Given the description of an element on the screen output the (x, y) to click on. 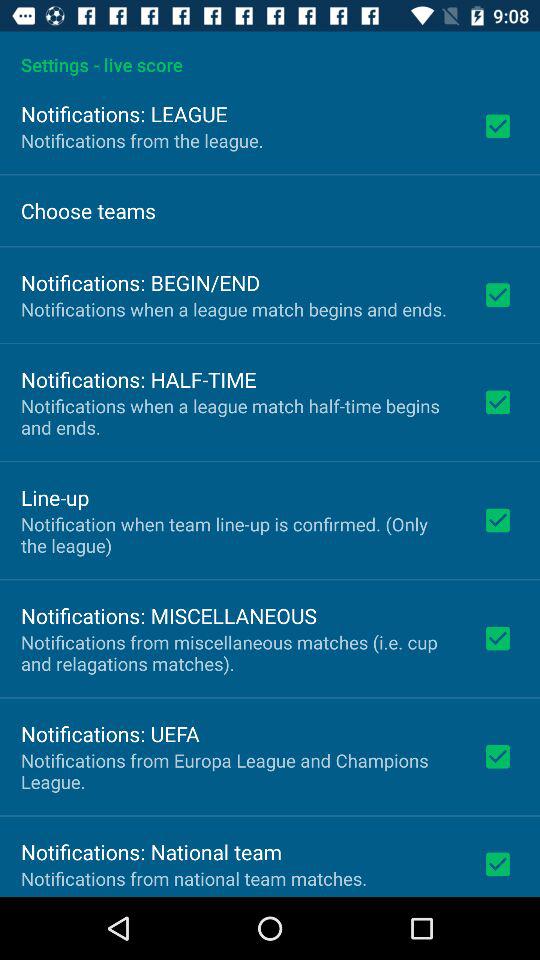
swipe to the notification when team app (238, 534)
